Given the description of an element on the screen output the (x, y) to click on. 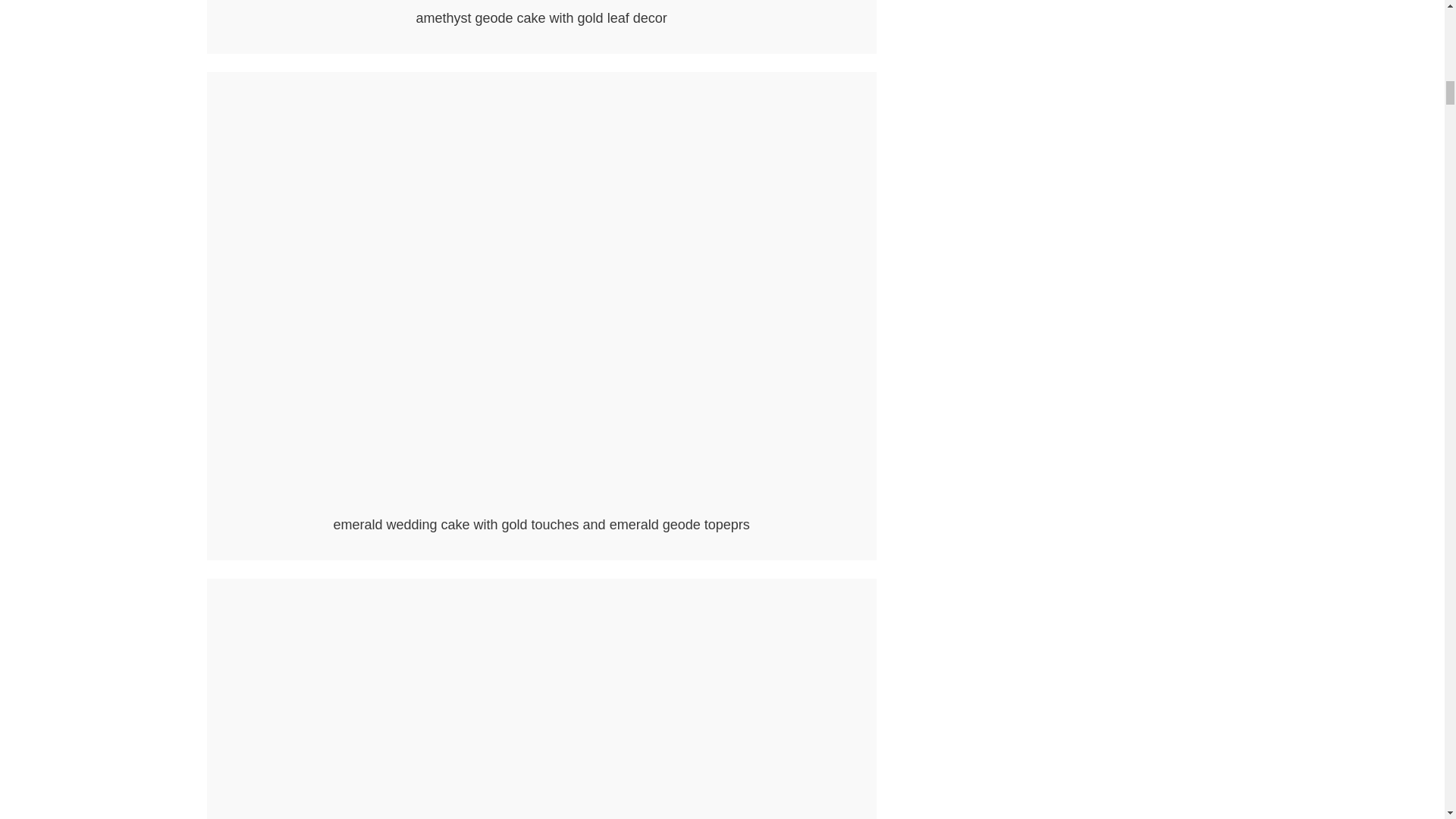
amethyst geode cake with gold leaf decor (541, 2)
cute pink geode and gold leaf wedding cake (541, 704)
